Given the description of an element on the screen output the (x, y) to click on. 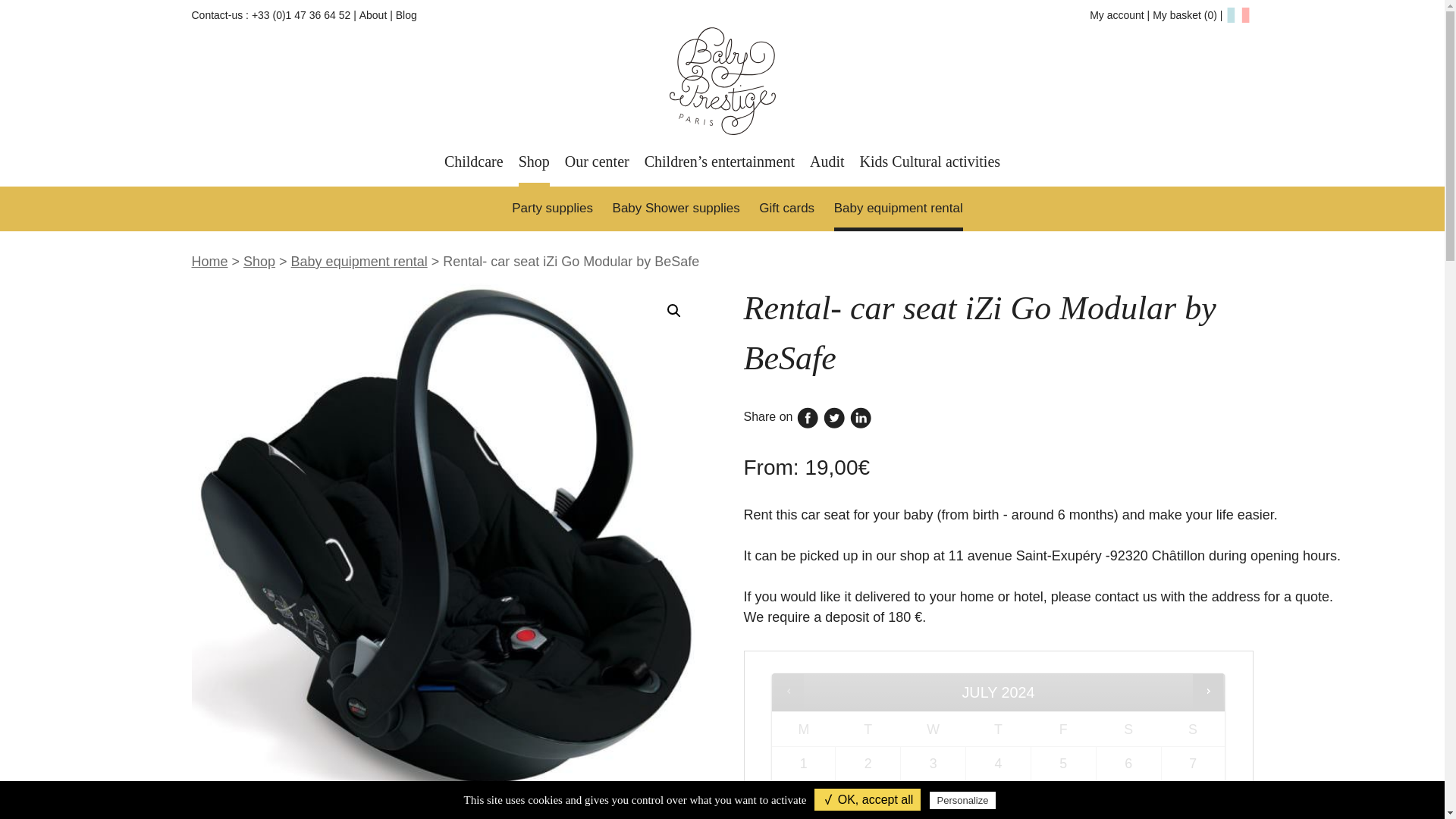
Childcare (473, 163)
Gift cards (785, 208)
Party supplies (552, 208)
Thursday (998, 729)
Wednesday (932, 729)
Sunday (1192, 729)
Shop (534, 163)
Next (1207, 692)
Blog (406, 15)
Monday (803, 729)
Baby Shower supplies (675, 208)
Friday (1063, 729)
Our center (596, 163)
Baby equipment rental (898, 208)
